Given the description of an element on the screen output the (x, y) to click on. 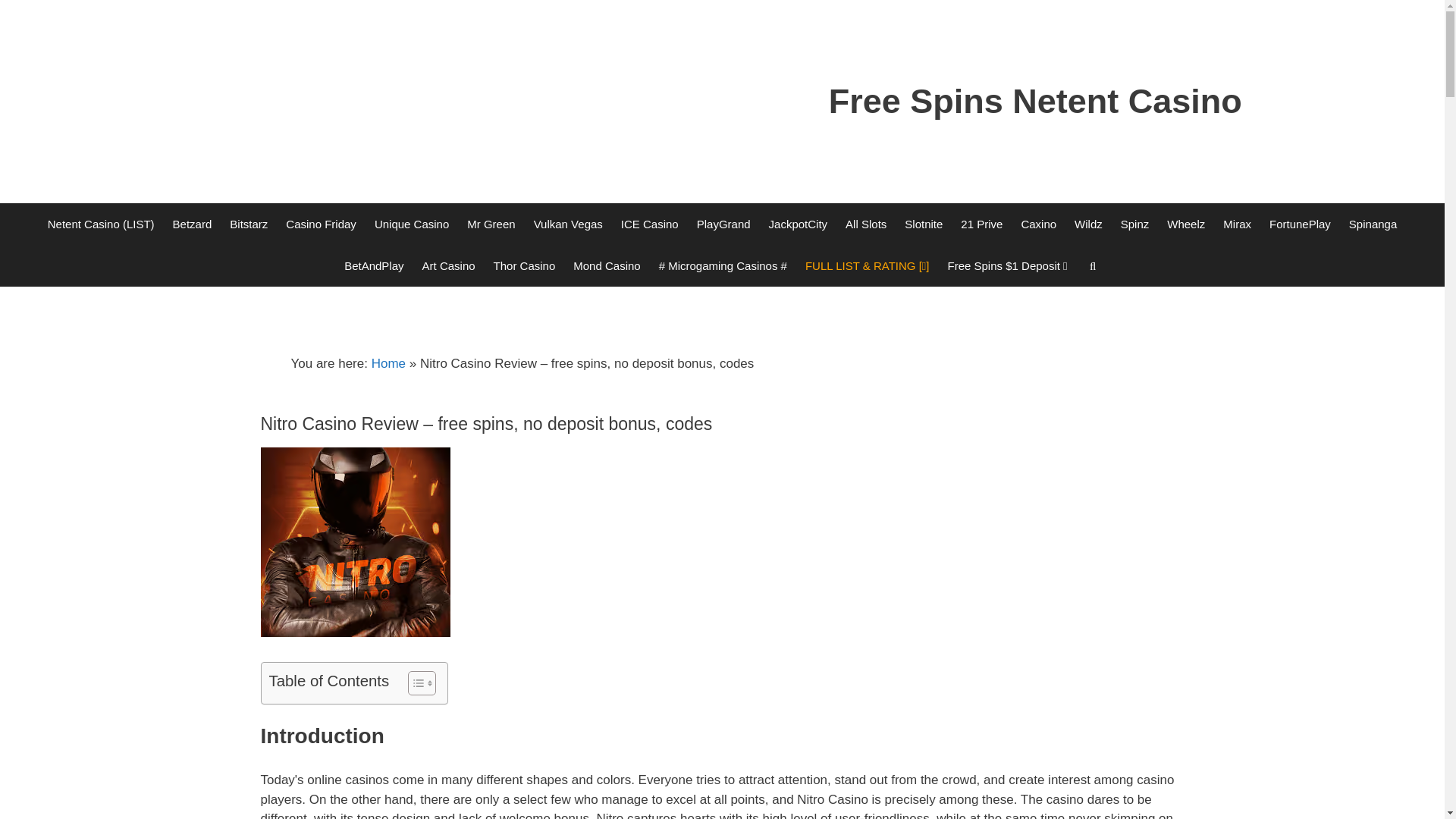
Betzard (192, 223)
Casino Friday (320, 223)
Bitstarz (248, 223)
Free Spins Netent Casino (1034, 100)
